Given the description of an element on the screen output the (x, y) to click on. 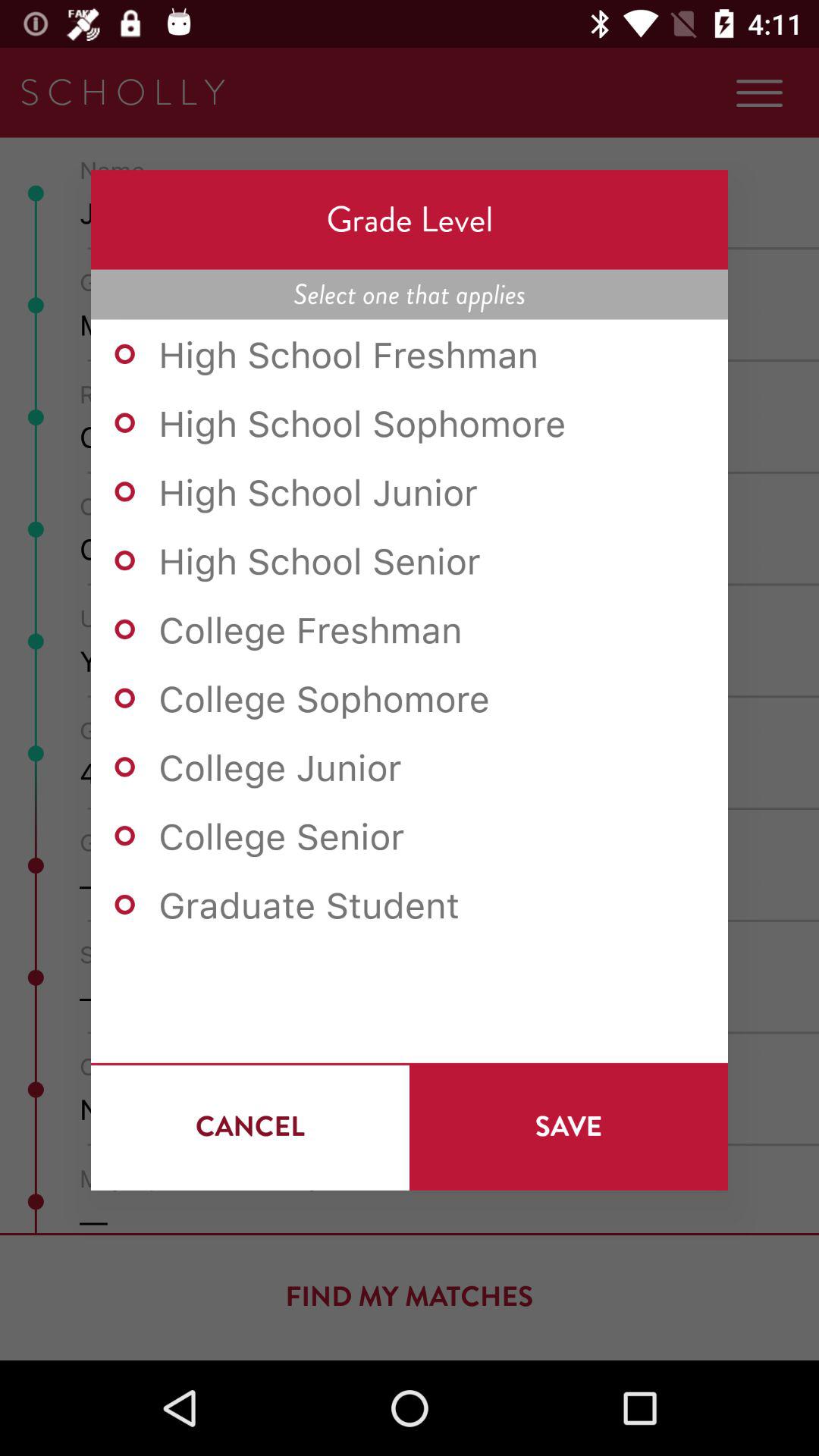
choose the cancel icon (250, 1126)
